Given the description of an element on the screen output the (x, y) to click on. 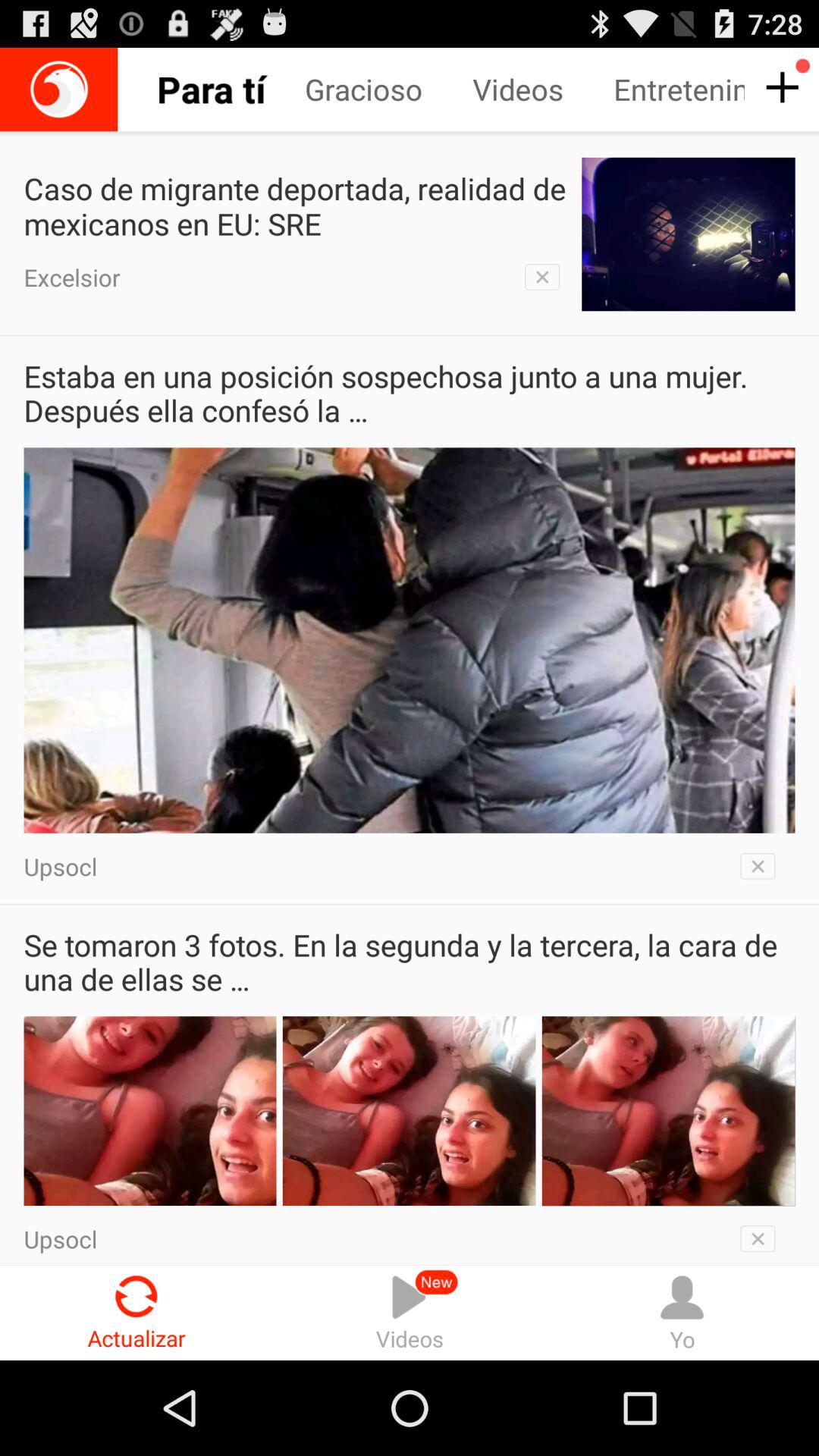
swipe to the entretenimiento icon (678, 89)
